Given the description of an element on the screen output the (x, y) to click on. 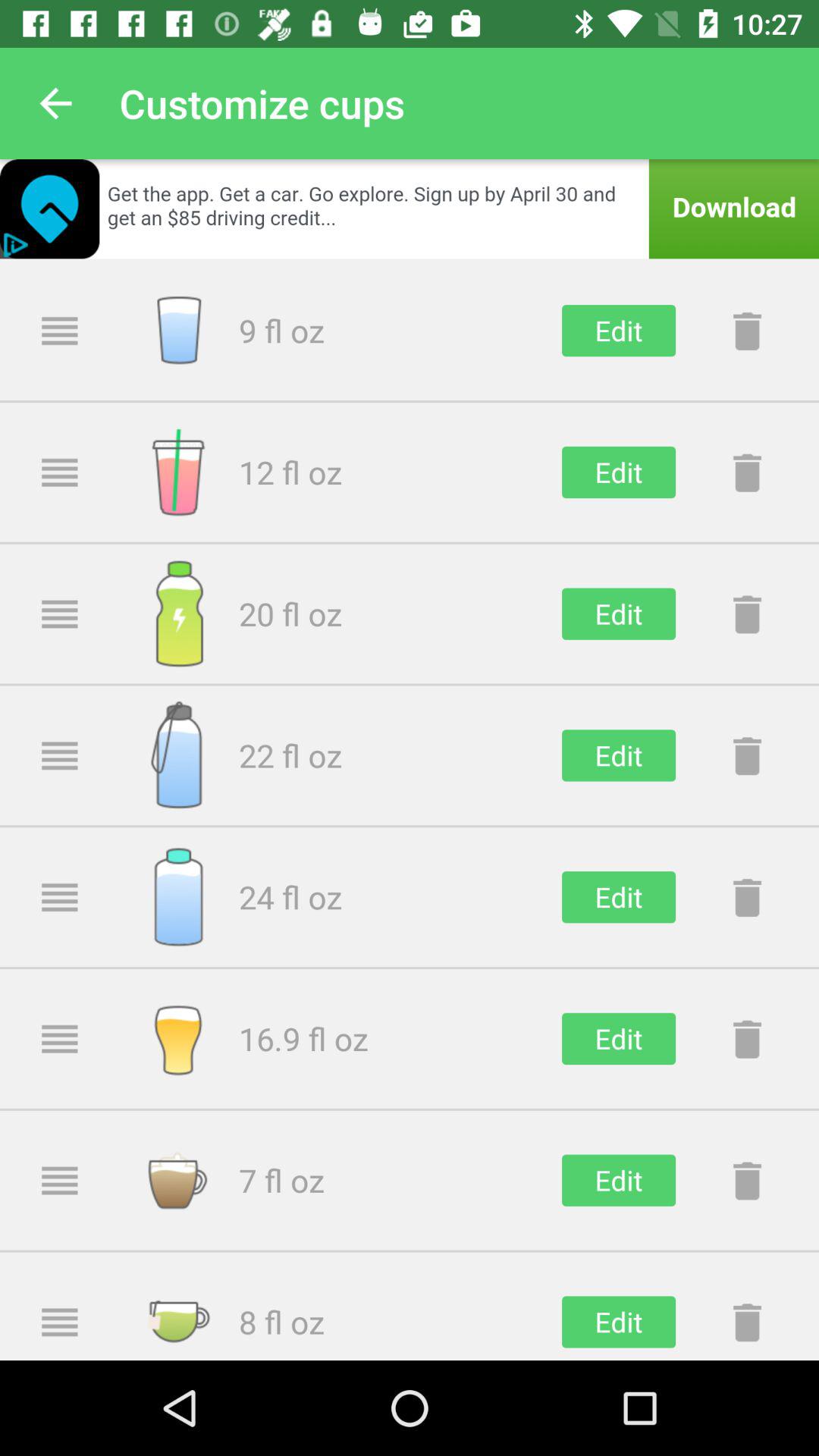
remove cup (747, 897)
